Given the description of an element on the screen output the (x, y) to click on. 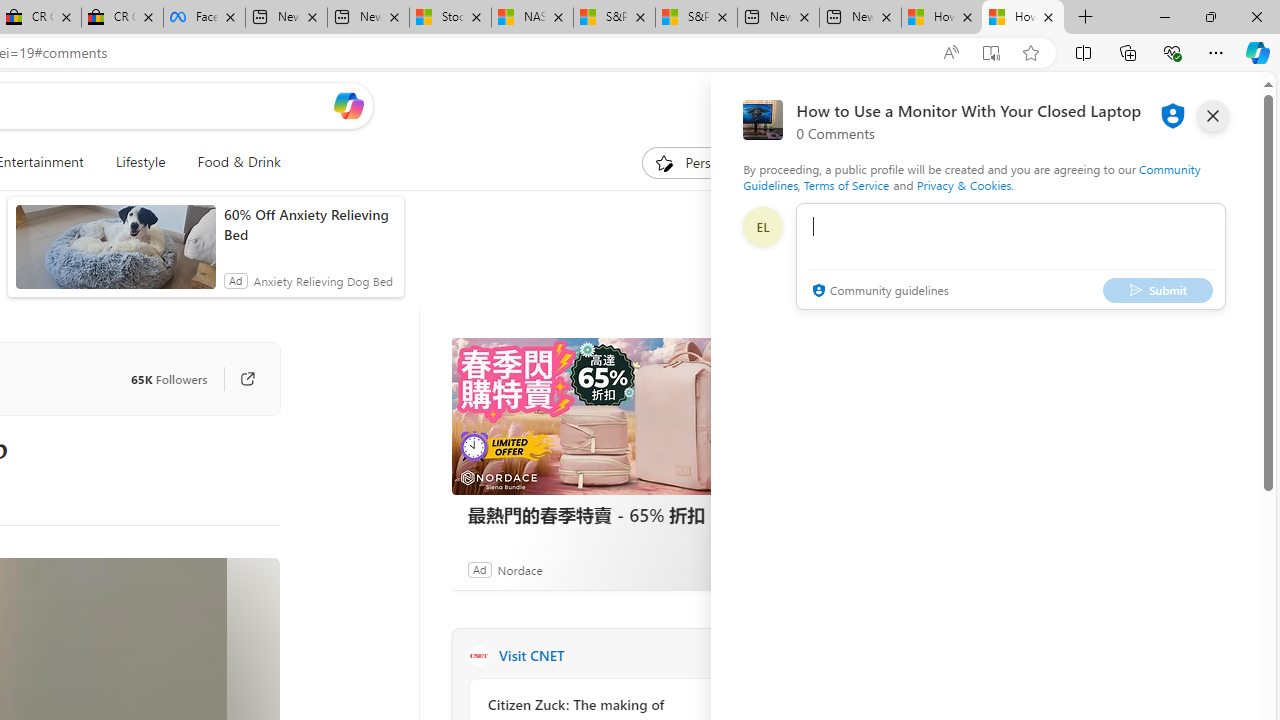
CNET (478, 655)
How to Use a Monitor With Your Closed Laptop (1023, 17)
Food & Drink (230, 162)
Privacy & Cookies (964, 184)
comment-box (1011, 256)
Visit CNET website (726, 655)
Enter Immersive Reader (F9) (991, 53)
